Given the description of an element on the screen output the (x, y) to click on. 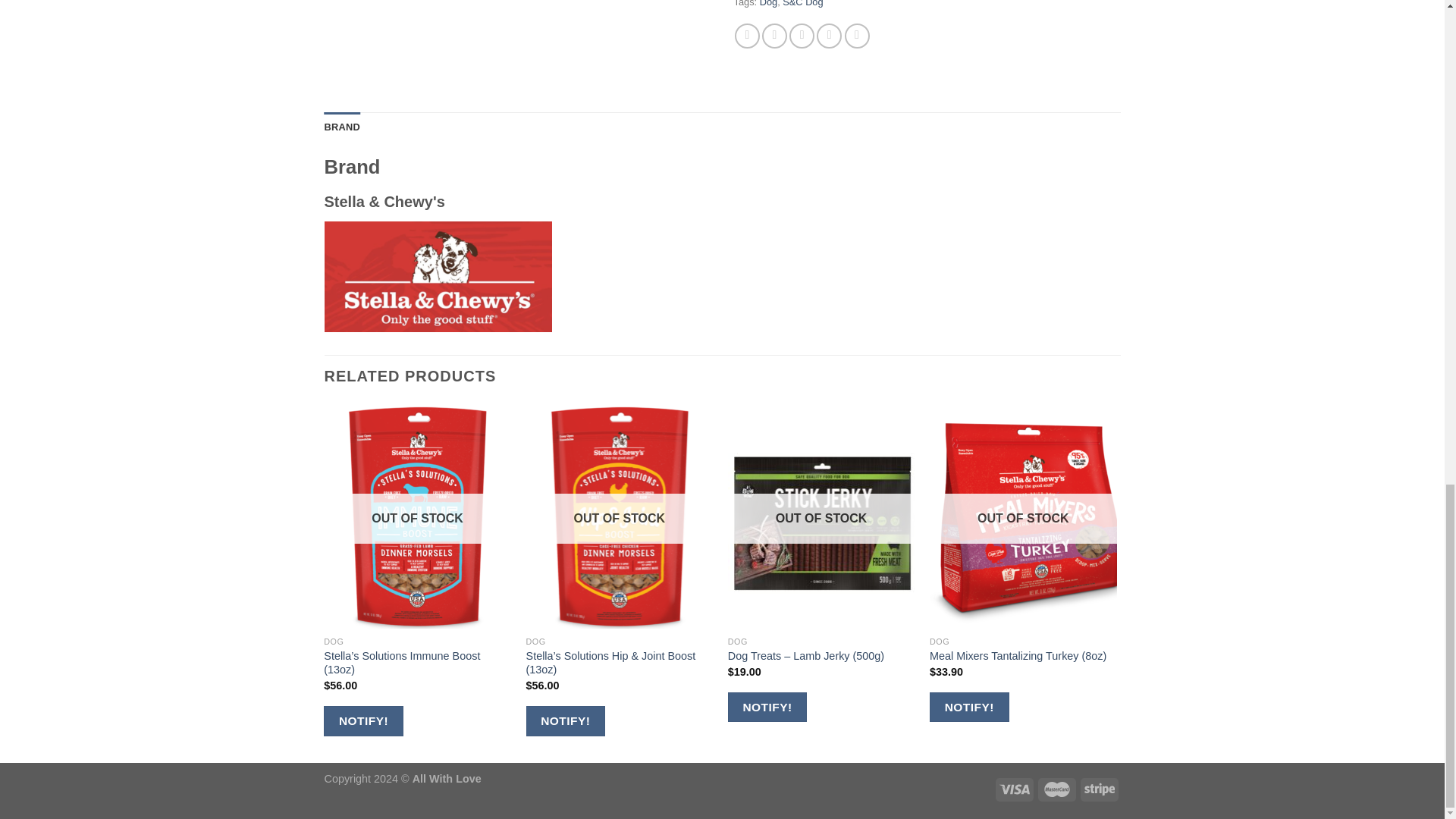
Notify! (1171, 706)
Dog (768, 3)
Notify! (1373, 706)
Notify! (363, 720)
Notify! (565, 720)
Notify! (768, 706)
Notify! (969, 706)
